Given the description of an element on the screen output the (x, y) to click on. 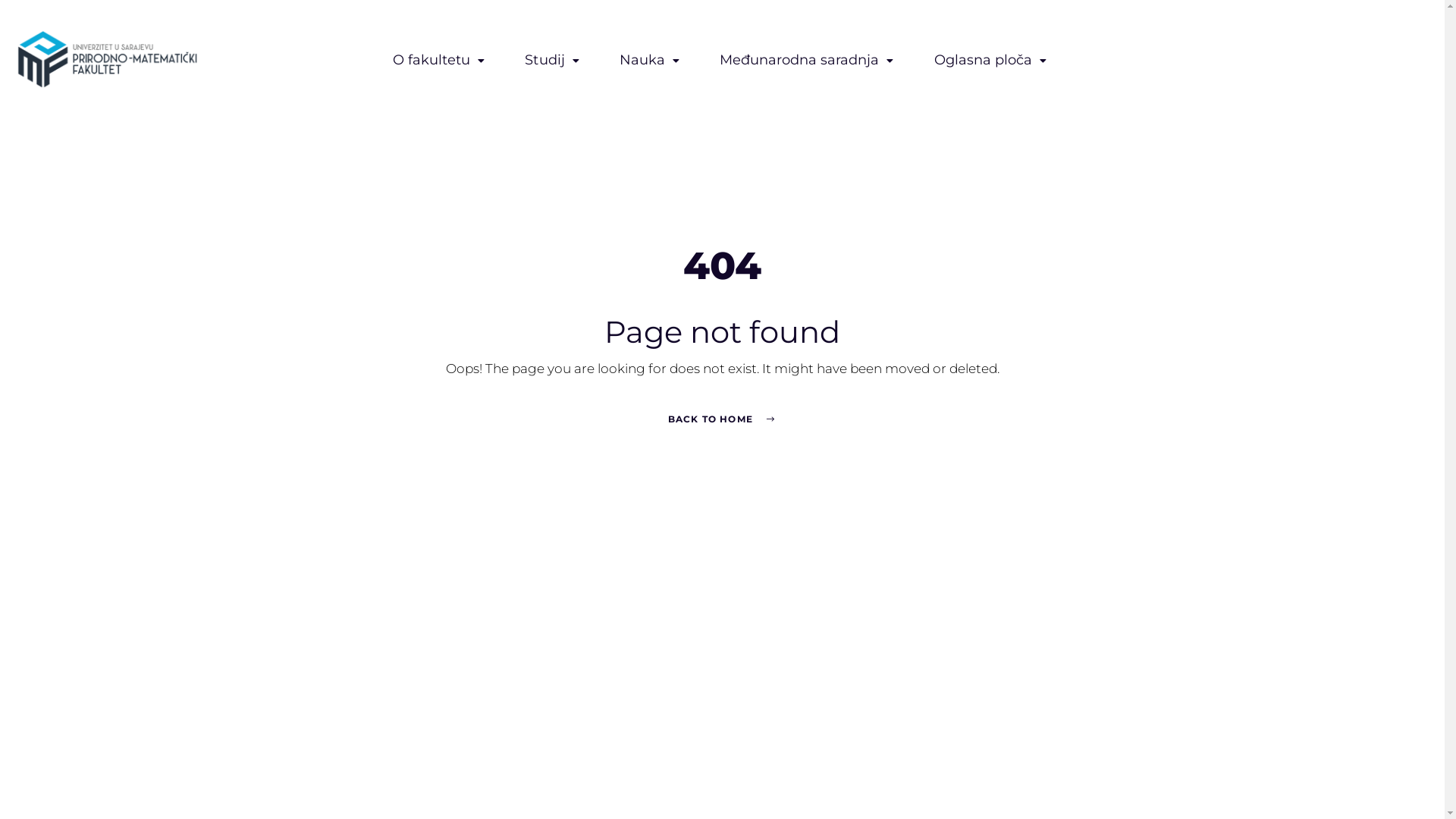
Studij Element type: text (554, 60)
Nauka Element type: text (652, 60)
O fakultetu Element type: text (441, 60)
BACK TO HOME Element type: text (722, 418)
